Given the description of an element on the screen output the (x, y) to click on. 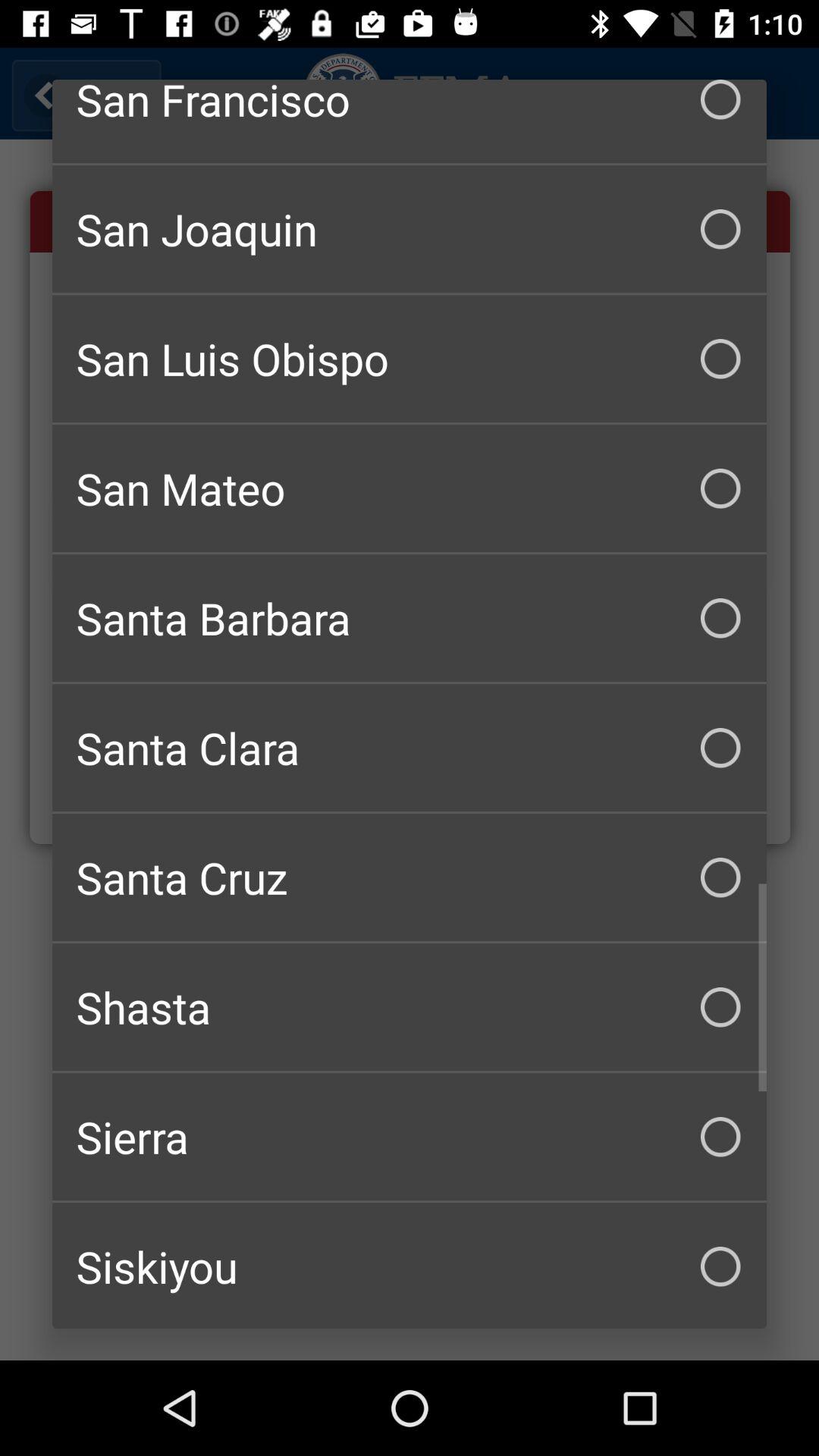
tap checkbox below the santa cruz icon (409, 1006)
